Given the description of an element on the screen output the (x, y) to click on. 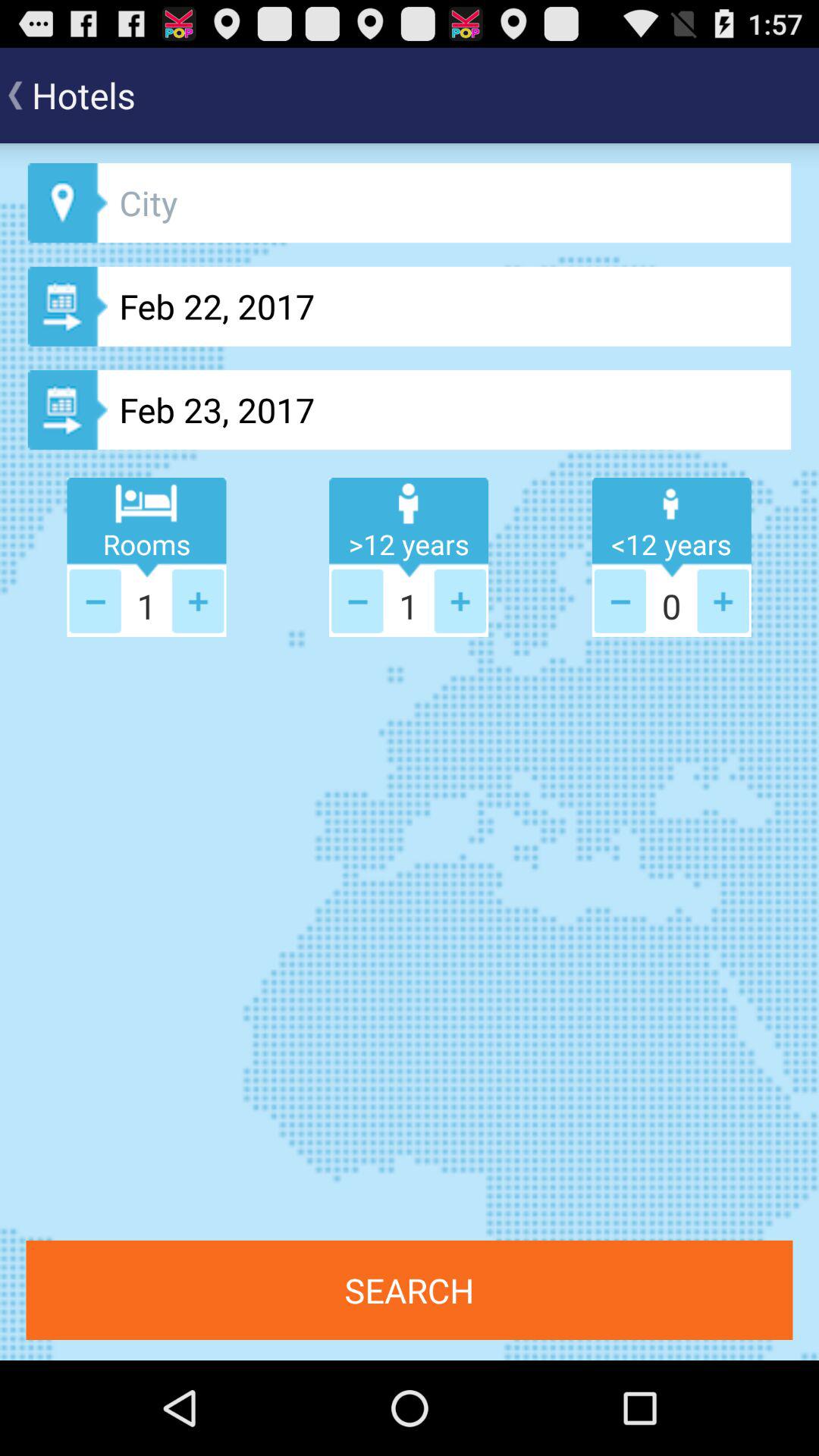
add additional room (198, 601)
